Given the description of an element on the screen output the (x, y) to click on. 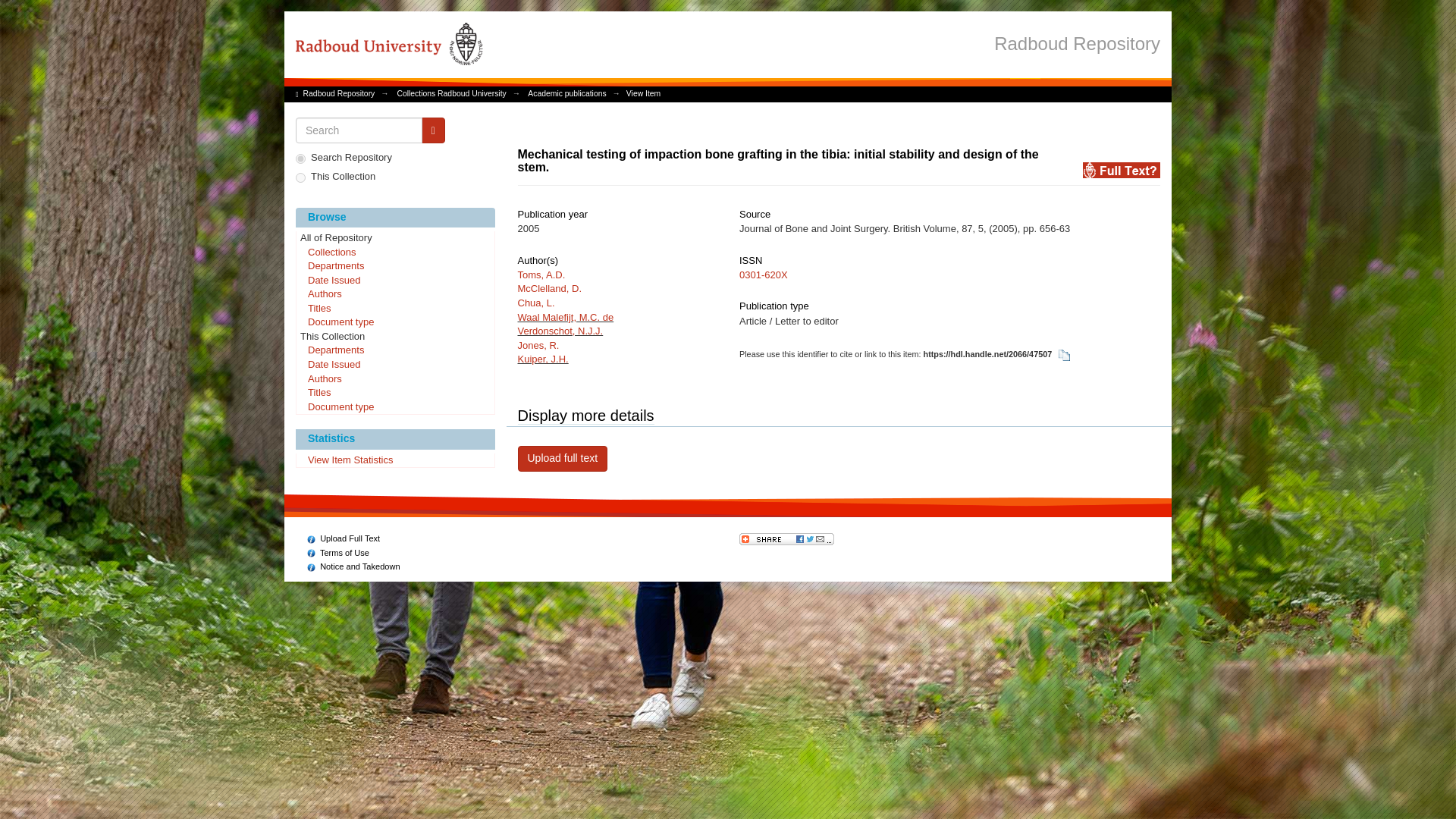
Date Issued (395, 281)
Verdonschot, N.J.J. (559, 330)
Academic publications (566, 93)
Go (433, 130)
Authors (395, 294)
Departments (395, 266)
Browse (395, 217)
Radboud Repository (1077, 43)
Chua, L. (535, 302)
Kuiper, J.H. (541, 358)
